Given the description of an element on the screen output the (x, y) to click on. 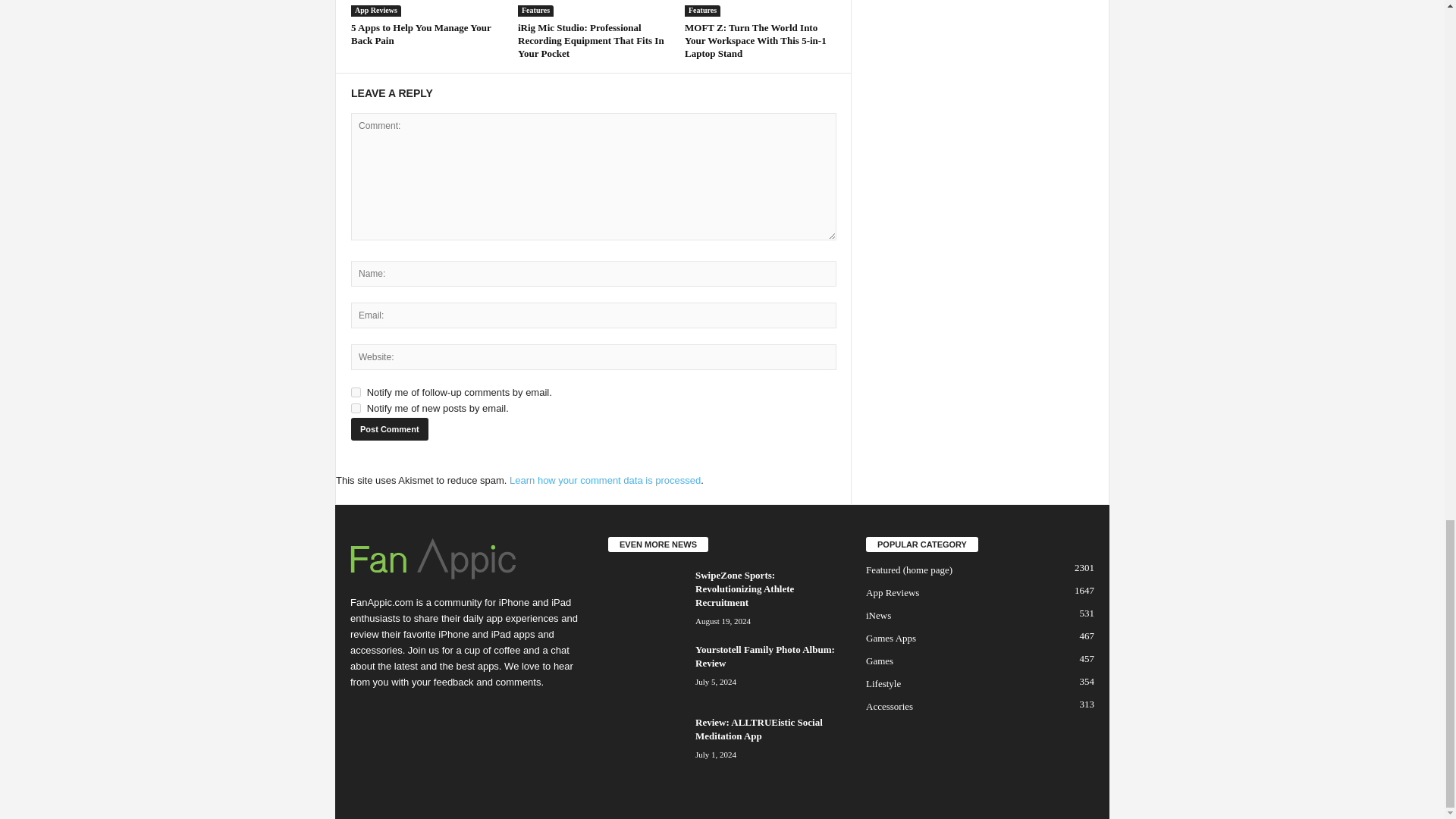
subscribe (355, 392)
subscribe (355, 408)
Post Comment (389, 428)
